Given the description of an element on the screen output the (x, y) to click on. 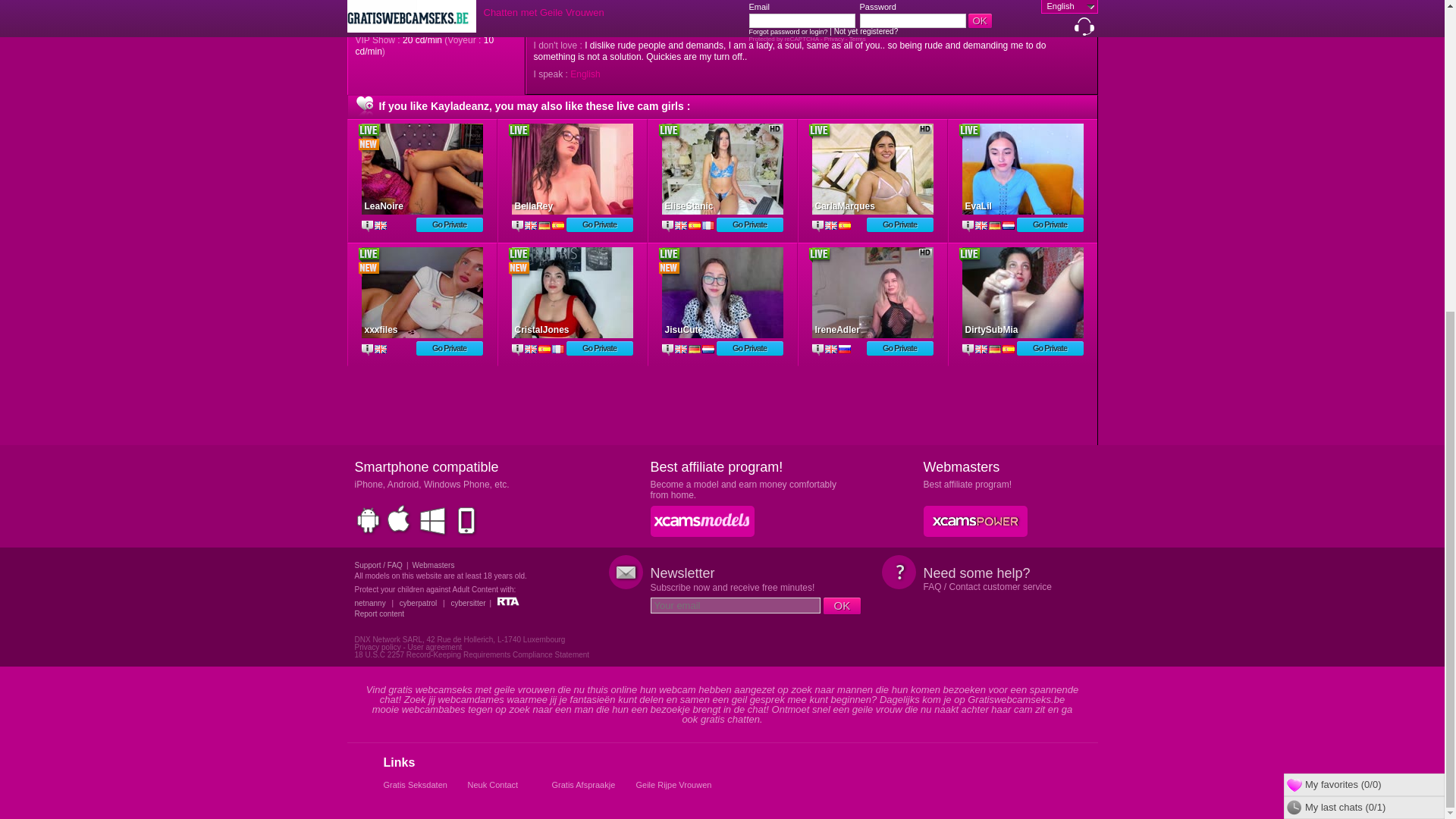
Carlamarques - sexcam (871, 168)
Leanoire - sexcam (421, 168)
Bellarey - sexcam (571, 168)
Elisestanic - sexcam (722, 168)
